Given the description of an element on the screen output the (x, y) to click on. 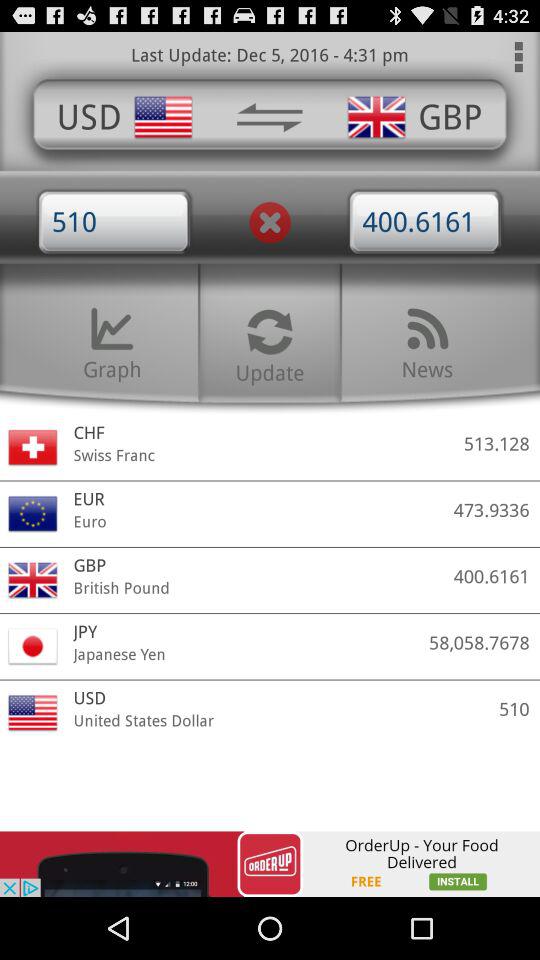
exit option (269, 222)
